Given the description of an element on the screen output the (x, y) to click on. 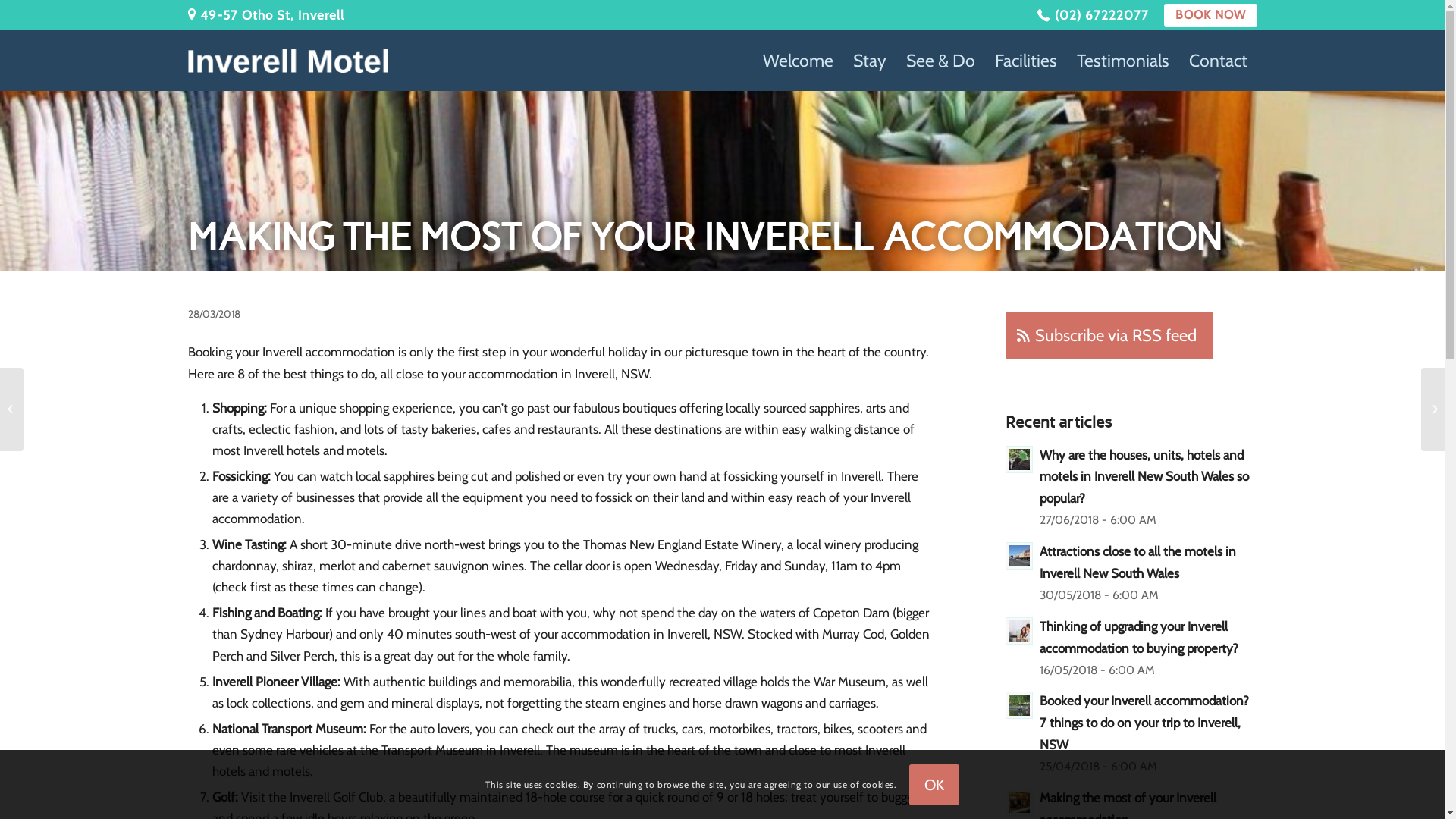
BOOK NOW Element type: text (1209, 14)
Stay Element type: text (869, 60)
Welcome Element type: text (797, 60)
Facilities Element type: text (1025, 60)
OK Element type: text (934, 783)
49-57 Otho St, Inverell Element type: text (266, 14)
See & Do Element type: text (940, 60)
Subscribe via RSS feed Element type: text (1109, 335)
Testimonials Element type: text (1122, 60)
(02) 67222077 Element type: text (1092, 15)
Contact Element type: text (1217, 60)
